Given the description of an element on the screen output the (x, y) to click on. 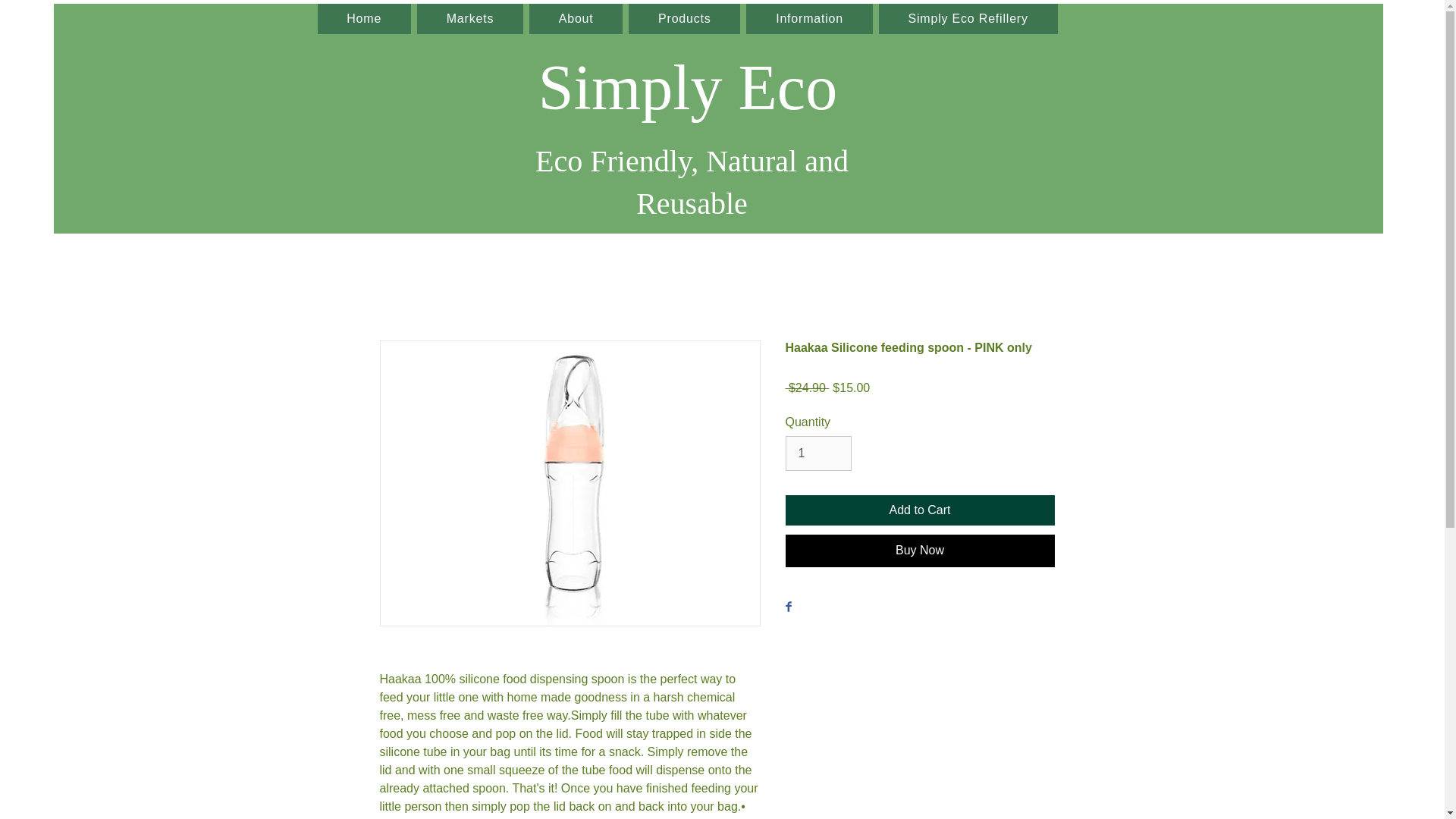
Products (683, 19)
Simply Eco Refillery (968, 19)
Information (808, 19)
Add to Cart (920, 510)
Home (363, 19)
Markets (469, 19)
1 (818, 452)
Buy Now (920, 550)
About (576, 19)
